Given the description of an element on the screen output the (x, y) to click on. 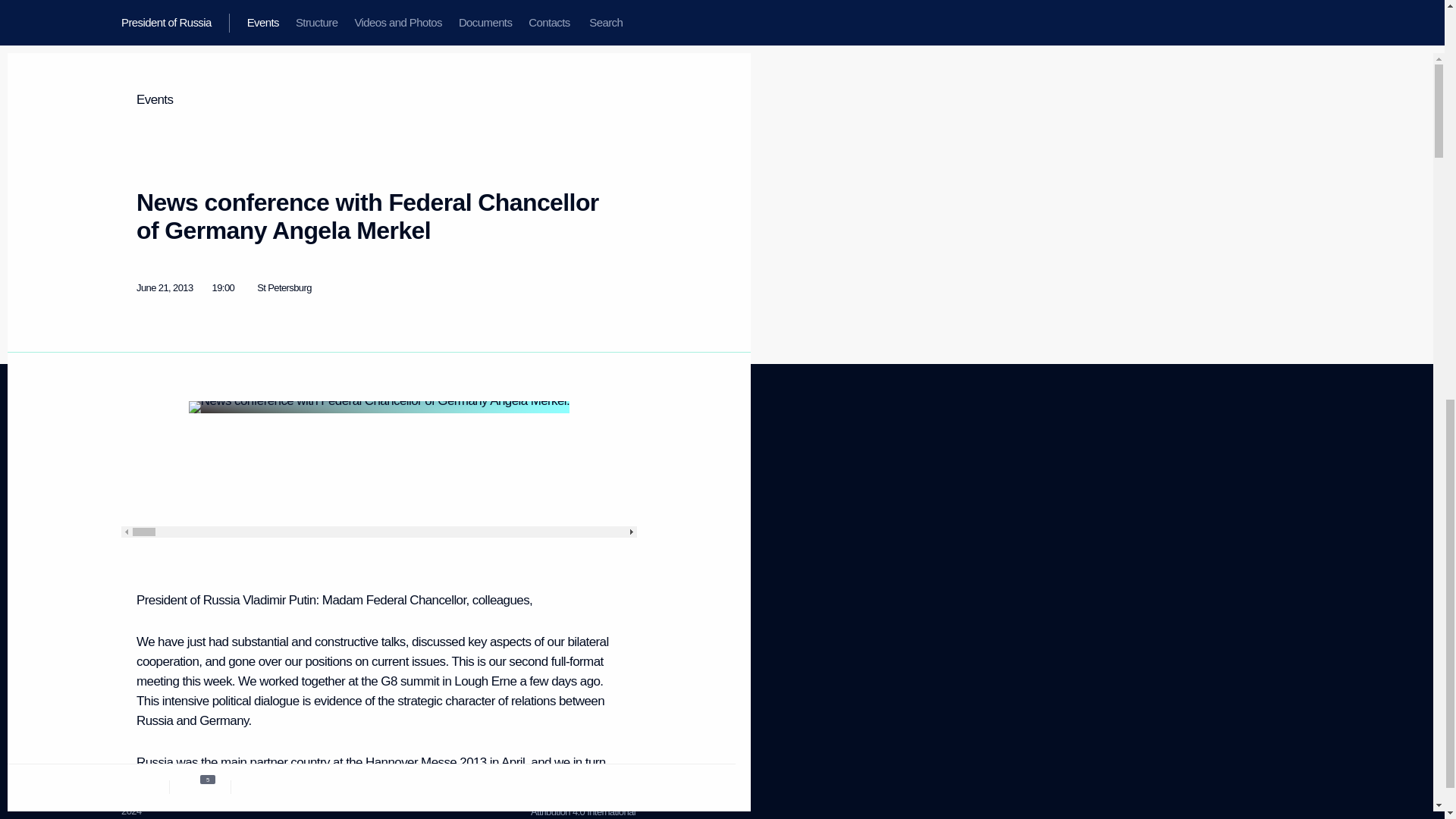
Search (136, 575)
State Insignia (287, 531)
Personal data of website users (566, 525)
Directory (140, 665)
Subscribe (317, 487)
Events (142, 646)
Send a Letter (135, 480)
Documents (287, 550)
Videos and Photos (145, 537)
